Given the description of an element on the screen output the (x, y) to click on. 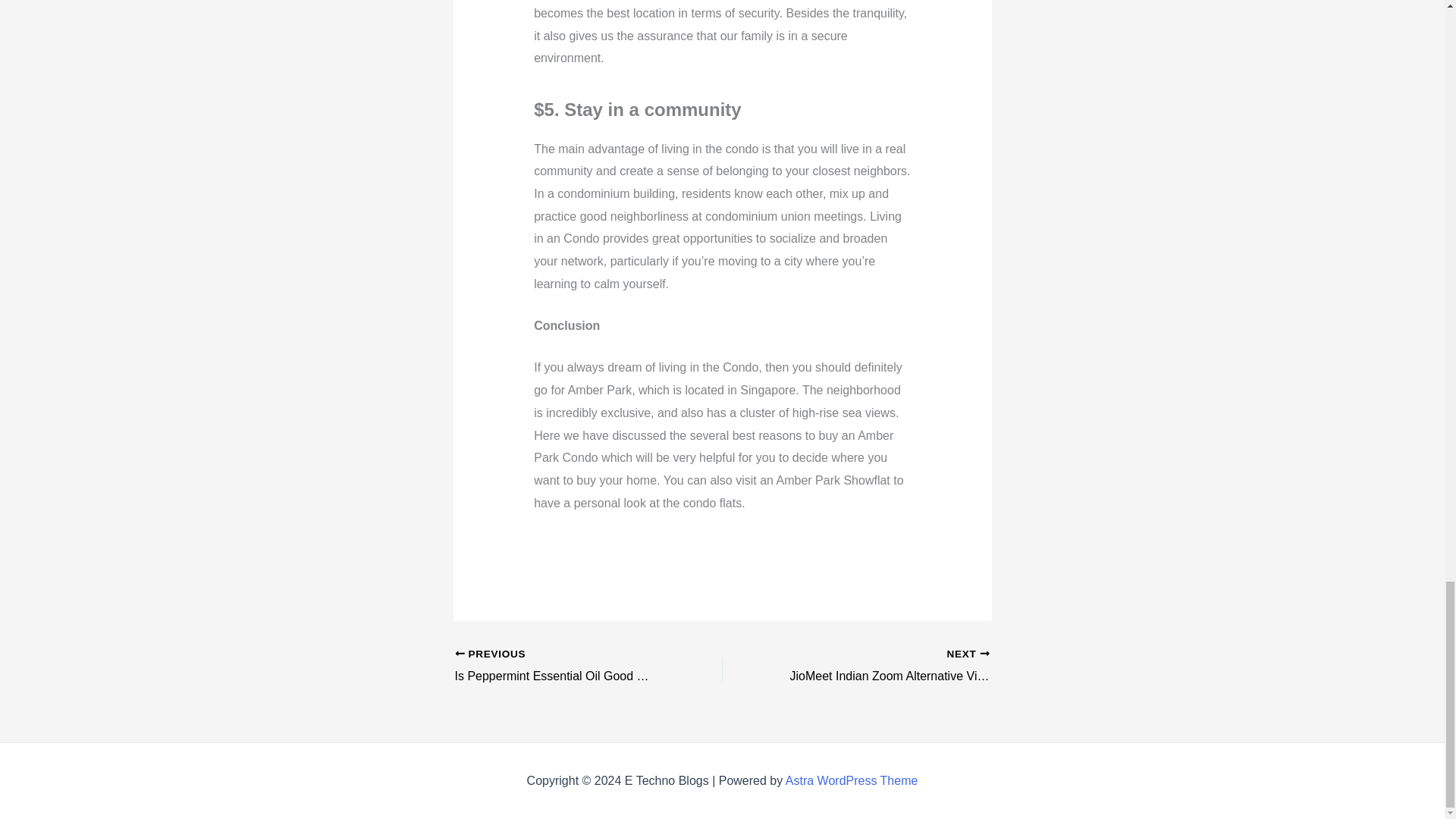
Astra WordPress Theme (852, 780)
Is Peppermint Essential Oil Good For Skin? (561, 666)
JioMeet Indian Zoom Alternative Video Calling Apps (882, 666)
